Given the description of an element on the screen output the (x, y) to click on. 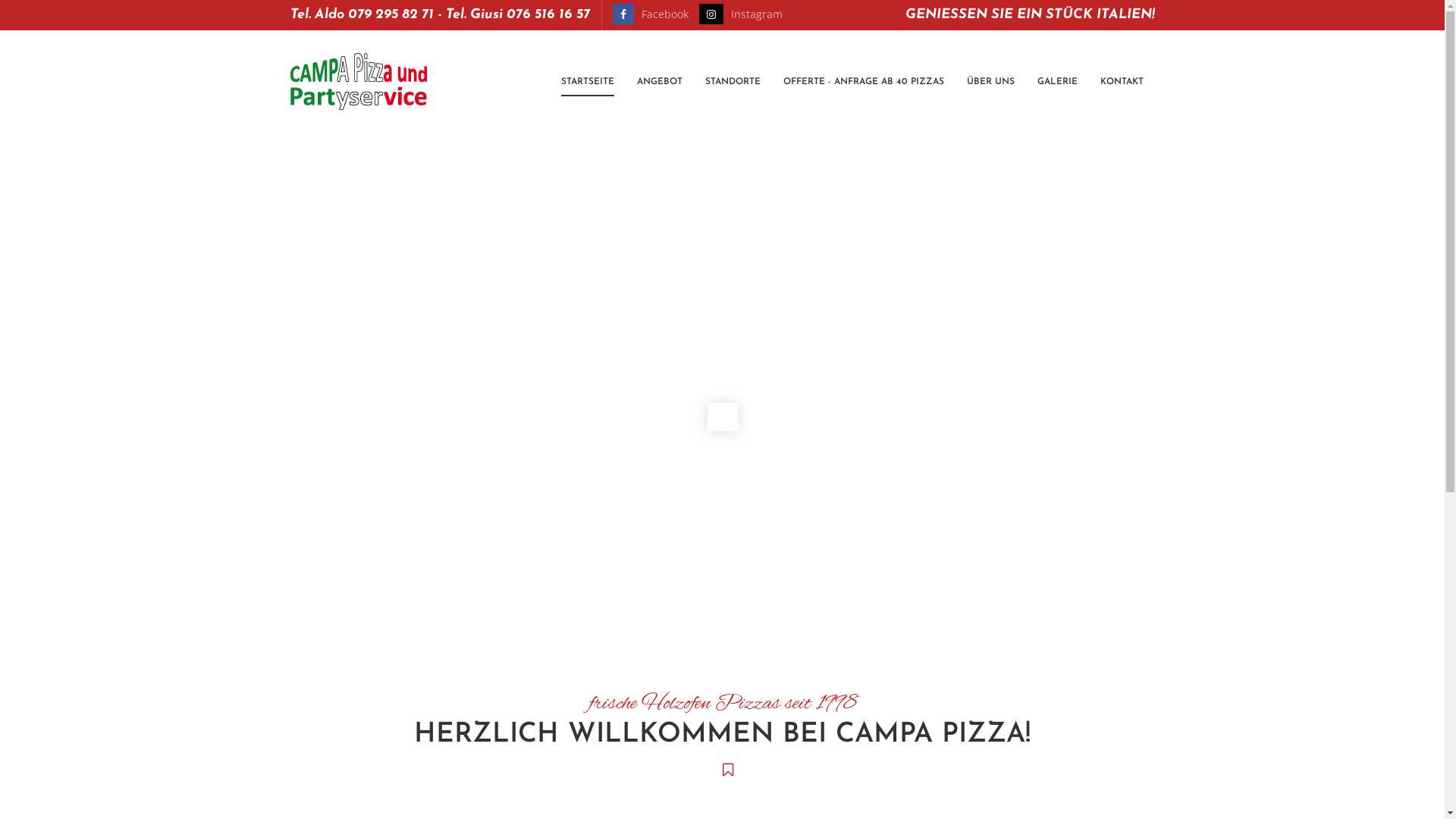
Facebook Element type: text (664, 13)
OFFERTE - ANFRAGE AB 40 PIZZAS Element type: text (862, 82)
ANGEBOT Element type: text (659, 82)
KONTAKT Element type: text (1120, 82)
STANDORTE Element type: text (732, 82)
GALERIE Element type: text (1057, 82)
Instagram Element type: text (756, 13)
STARTSEITE Element type: text (587, 82)
